Given the description of an element on the screen output the (x, y) to click on. 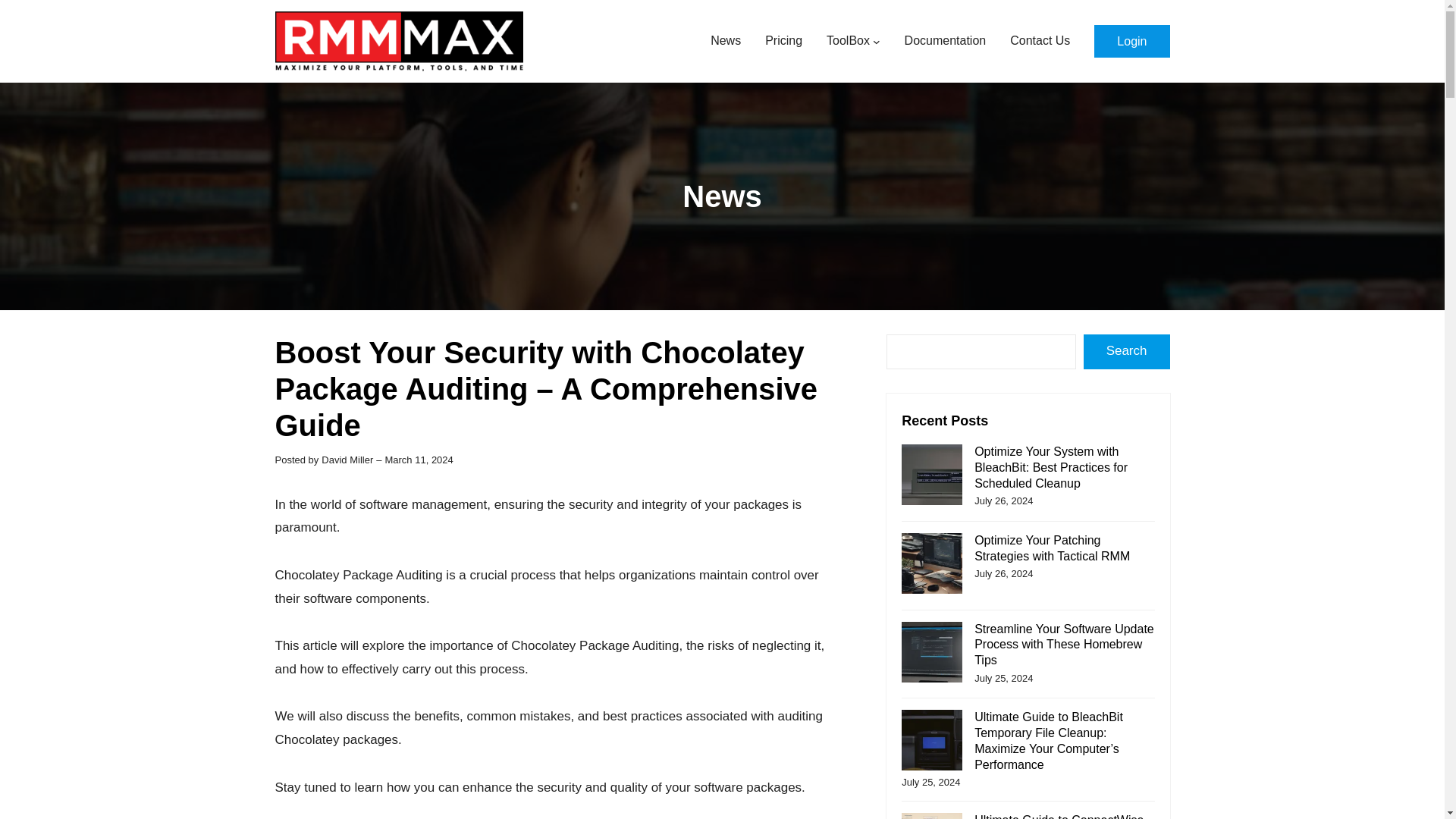
Optimize Your Patching Strategies with Tactical RMM (1051, 547)
Search (1126, 351)
Documentation (945, 40)
Pricing (783, 40)
News (721, 195)
Login (1131, 41)
ToolBox (848, 40)
Contact Us (1040, 40)
